Given the description of an element on the screen output the (x, y) to click on. 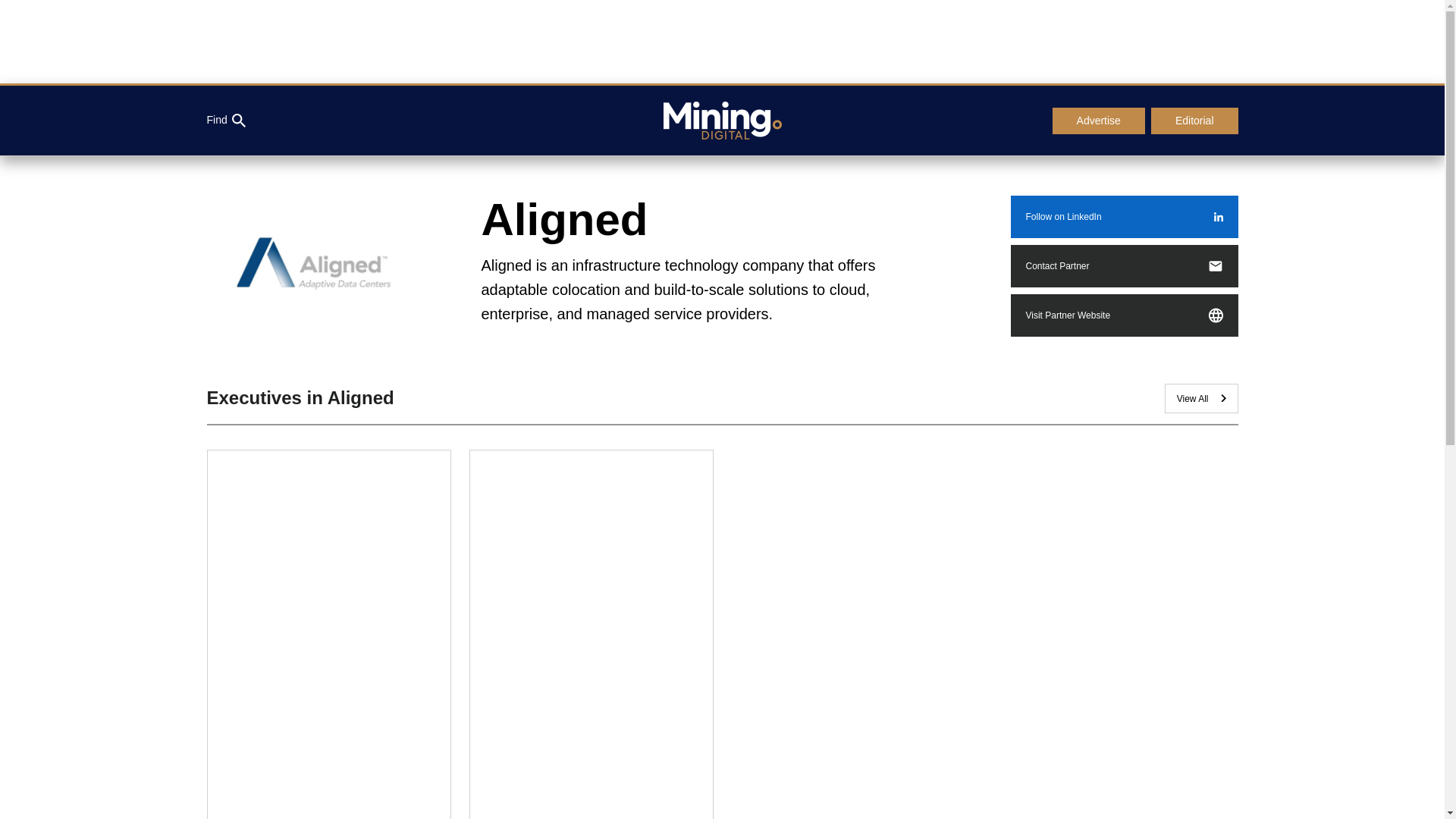
View All (1201, 398)
Follow on LinkedIn (1123, 216)
Visit Partner Website (1123, 315)
Advertise (1098, 121)
Find (225, 120)
Contact Partner (1123, 265)
Editorial (1195, 121)
